Given the description of an element on the screen output the (x, y) to click on. 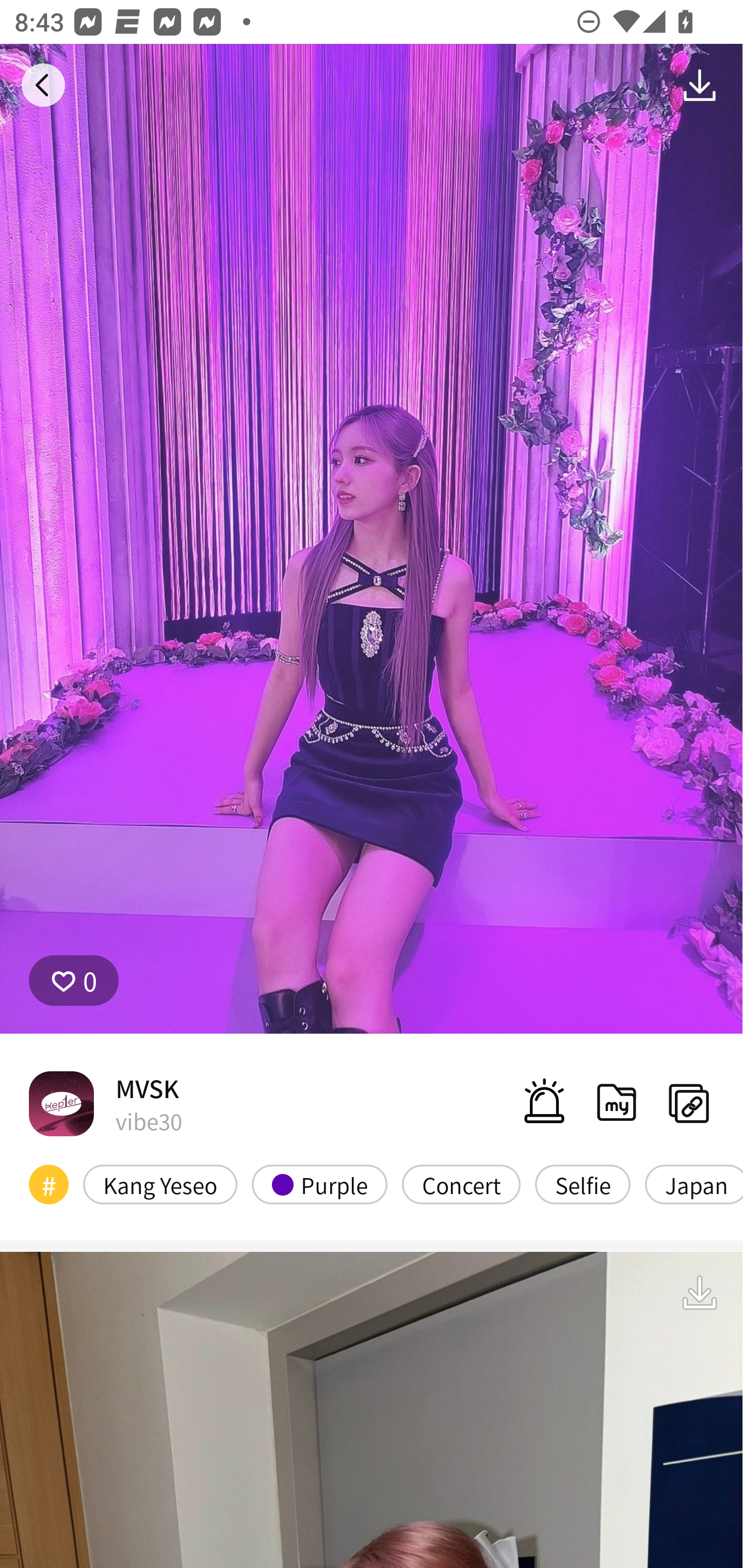
0 (73, 980)
MVSK vibe30 (105, 1102)
Kang Yeseo (160, 1184)
Purple (319, 1184)
Concert (460, 1184)
Selfie (582, 1184)
Japan (693, 1184)
